Given the description of an element on the screen output the (x, y) to click on. 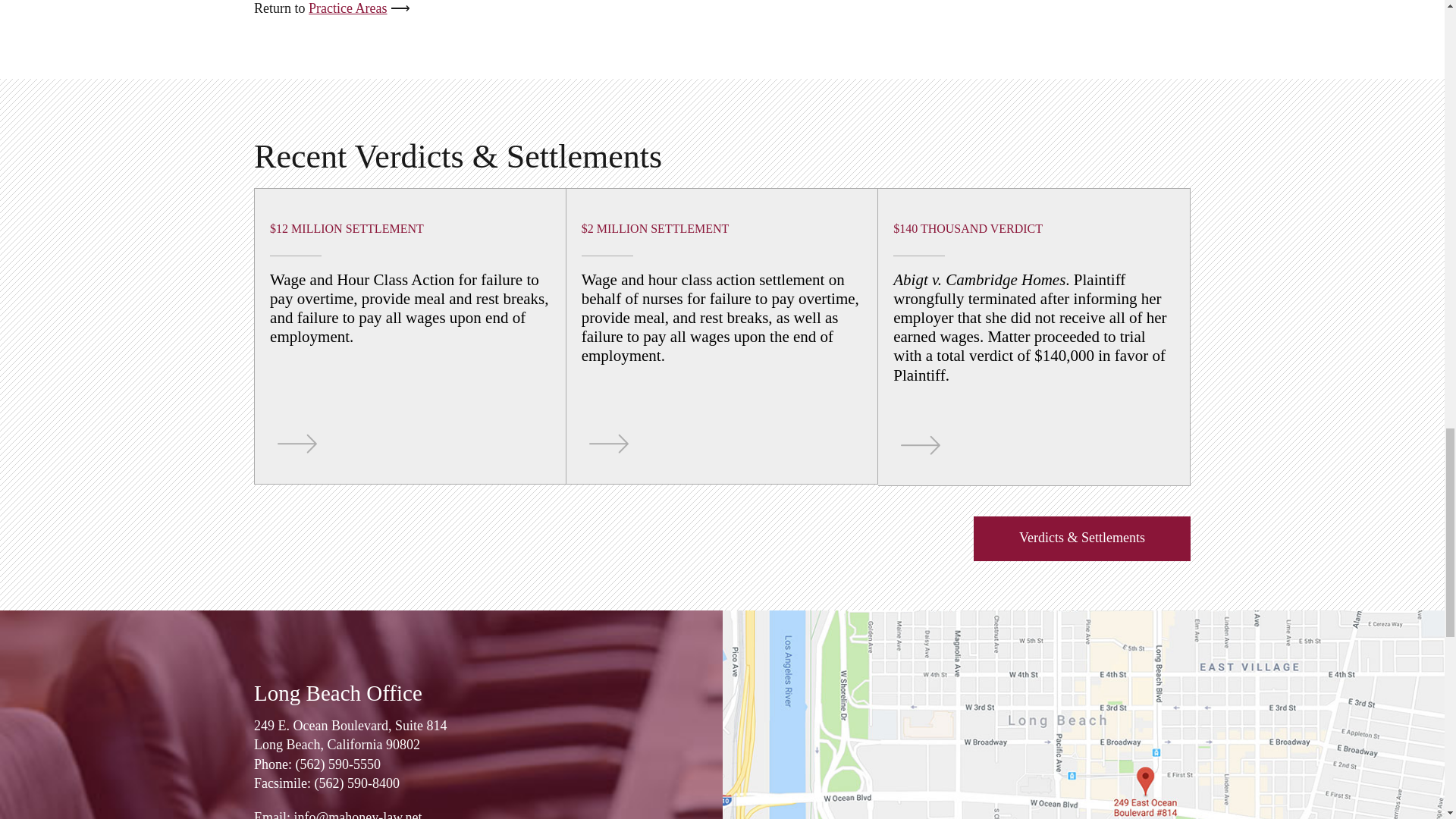
Practice Areas (347, 7)
